Given the description of an element on the screen output the (x, y) to click on. 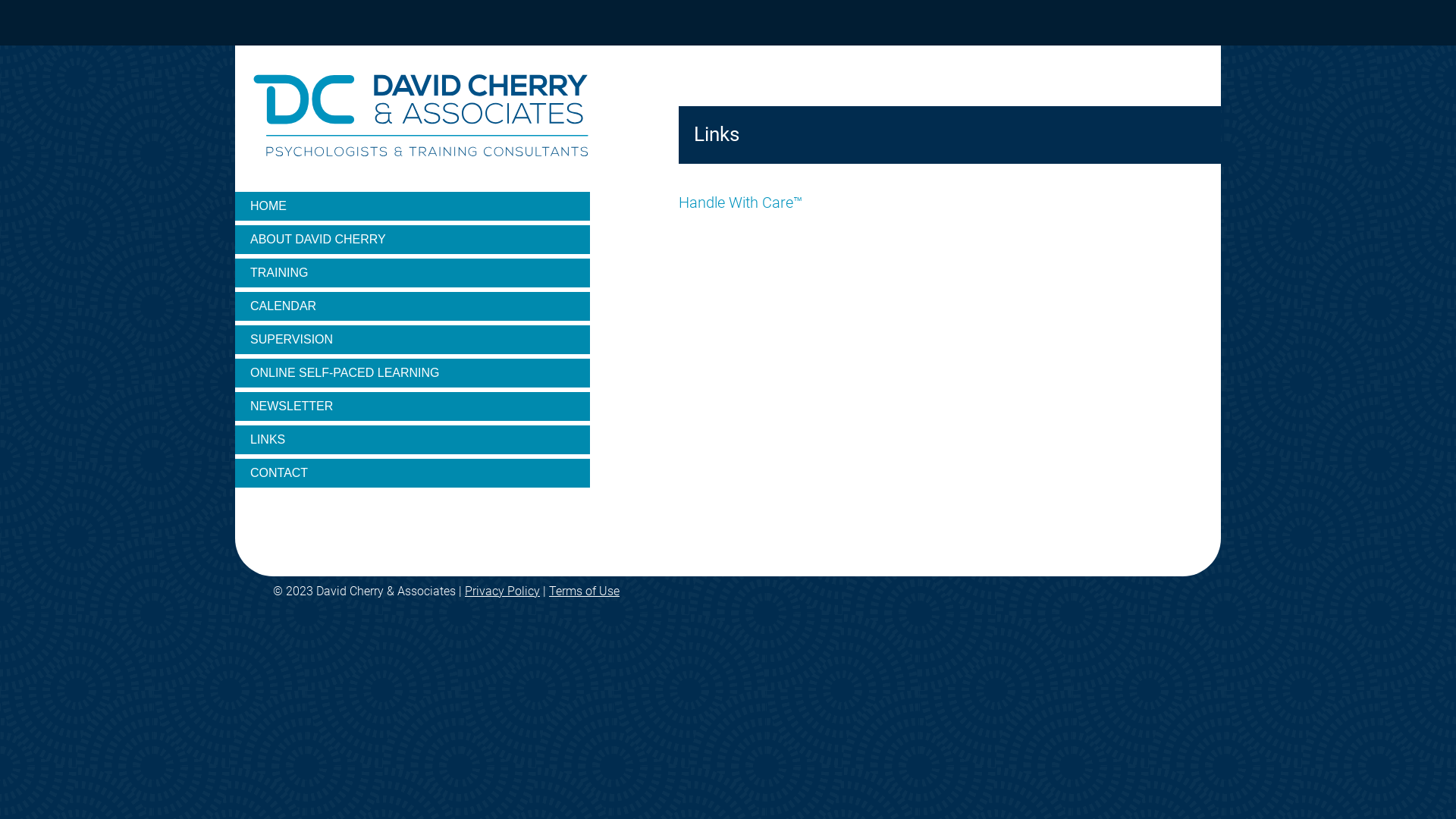
Privacy Policy Element type: text (501, 590)
HOME Element type: text (412, 207)
NEWSLETTER Element type: text (412, 407)
ONLINE SELF-PACED LEARNING Element type: text (412, 374)
CALENDAR Element type: text (412, 307)
SUPERVISION Element type: text (412, 340)
ABOUT DAVID CHERRY Element type: text (412, 240)
LINKS Element type: text (412, 441)
CONTACT Element type: text (412, 474)
TRAINING Element type: text (412, 274)
Terms of Use Element type: text (584, 590)
